Given the description of an element on the screen output the (x, y) to click on. 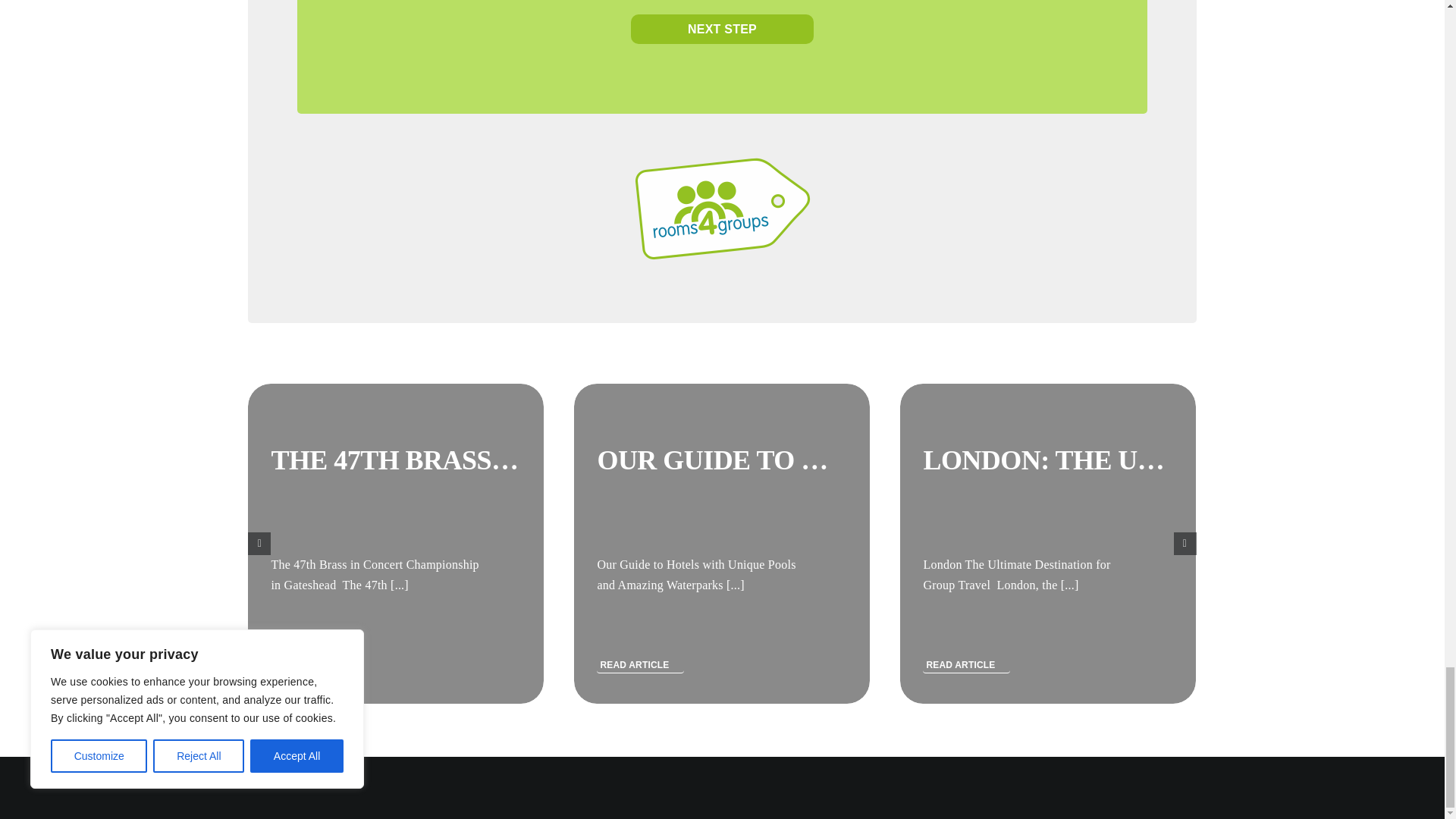
THE 47TH BRASS IN CONCERT CHAMPIONSHIP IN GATESHEAD (681, 460)
NEXT STEP (721, 29)
READ ARTICLE (314, 662)
